Given the description of an element on the screen output the (x, y) to click on. 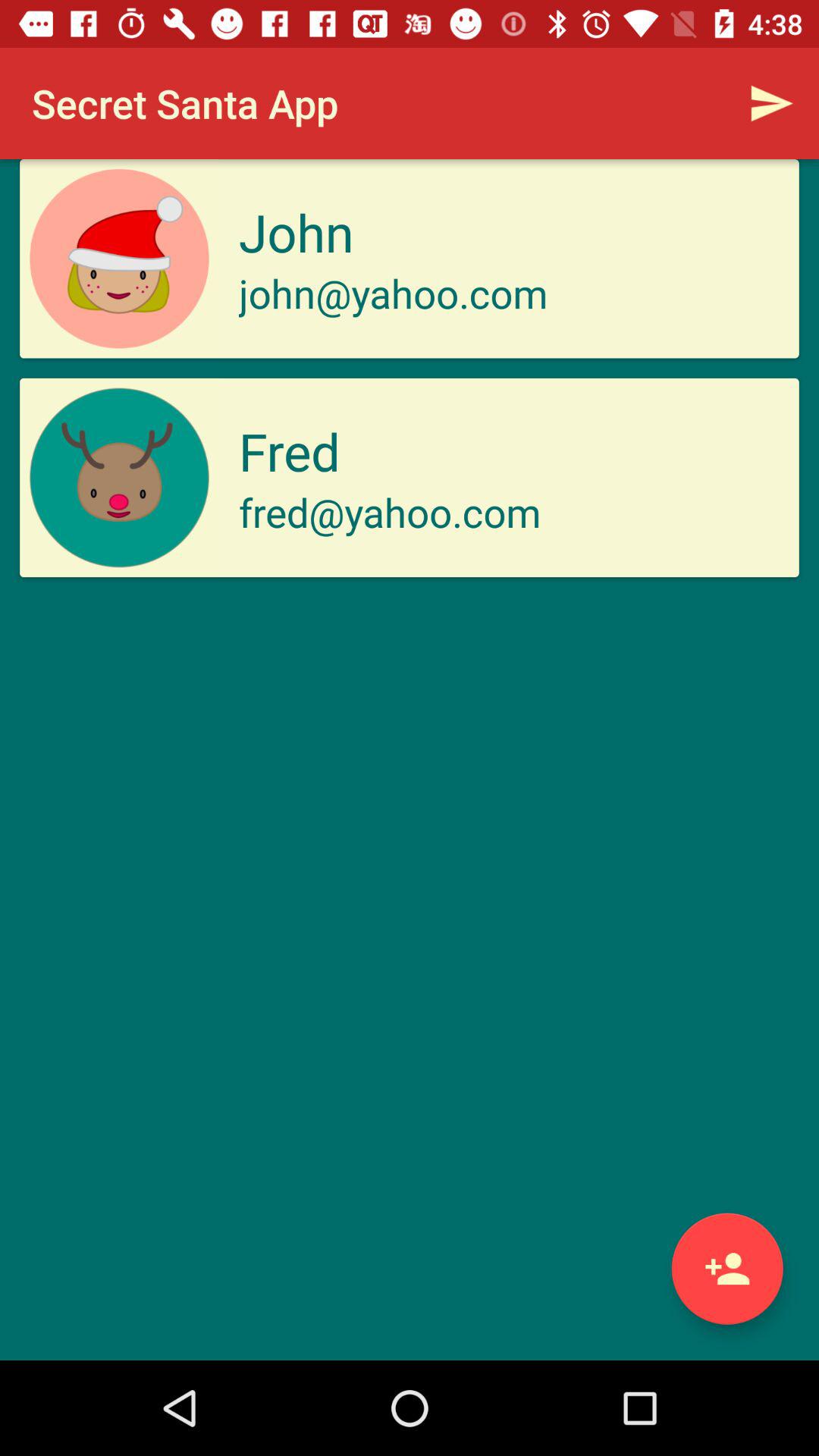
select the item next to the secret santa app item (771, 103)
